Given the description of an element on the screen output the (x, y) to click on. 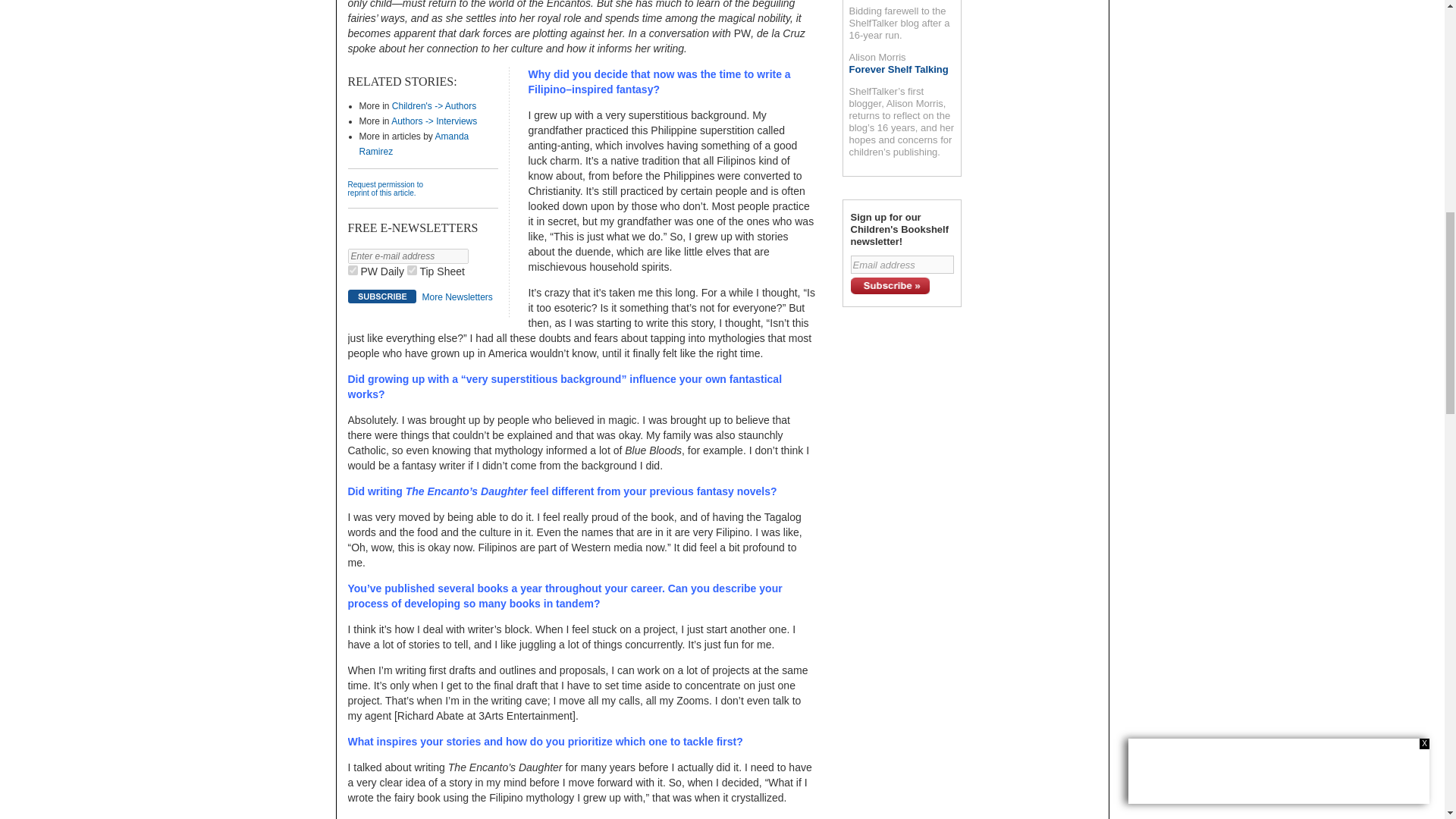
subscribe (380, 296)
Email address (901, 264)
1 (351, 270)
6 (411, 270)
